Given the description of an element on the screen output the (x, y) to click on. 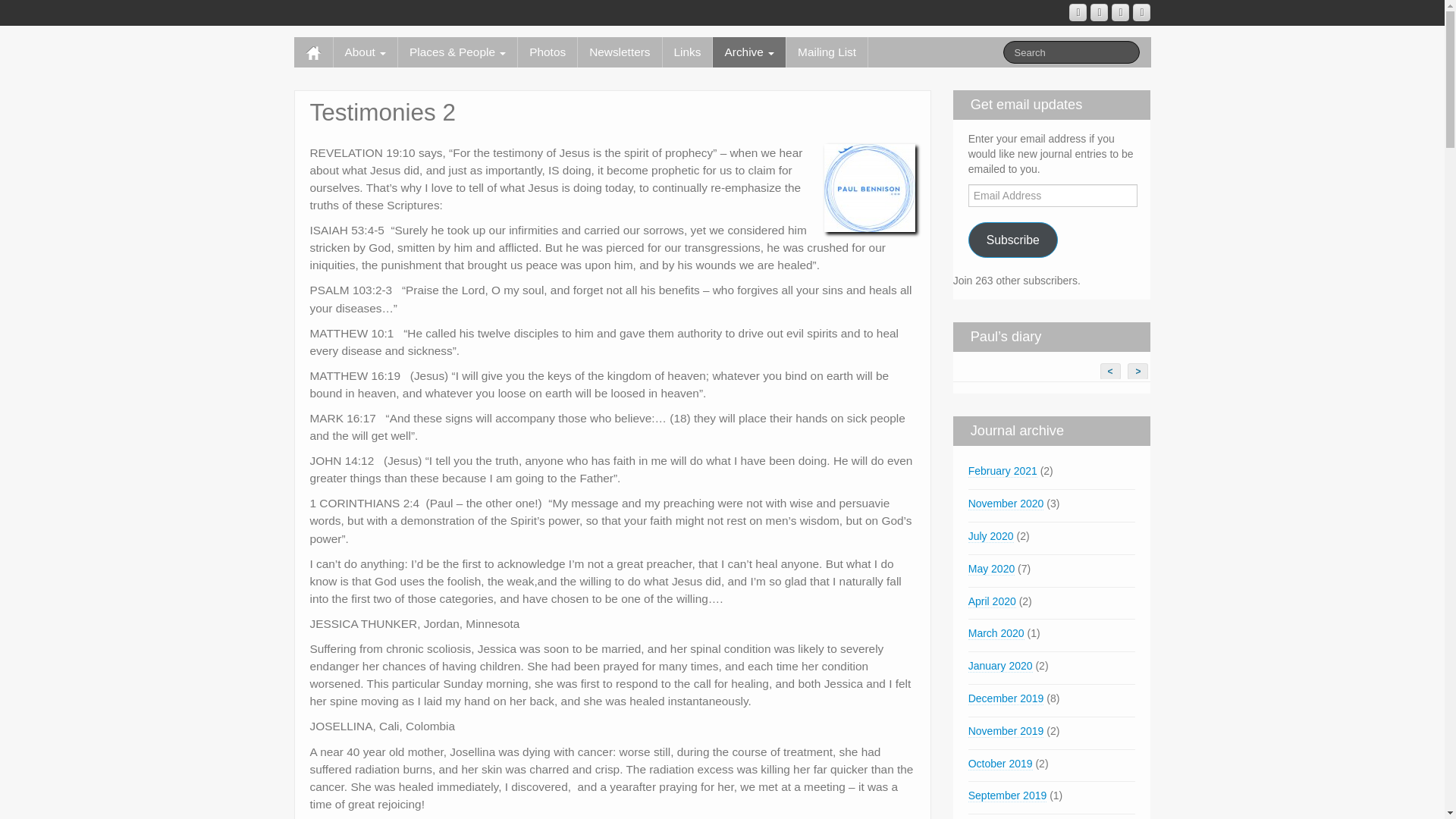
Subscribe (1013, 239)
Archive (749, 51)
Newsletters (619, 51)
July 2020 (990, 535)
Paul Bennison Googleplus (1077, 12)
February 2021 (1002, 471)
Links (687, 51)
Paul Bennison Twitter (1141, 12)
Photos (547, 51)
Paul Bennison Facebook (1099, 12)
November 2020 (1005, 503)
About (365, 51)
Paul Bennison Vimeo (1120, 12)
Mailing List (826, 51)
